Given the description of an element on the screen output the (x, y) to click on. 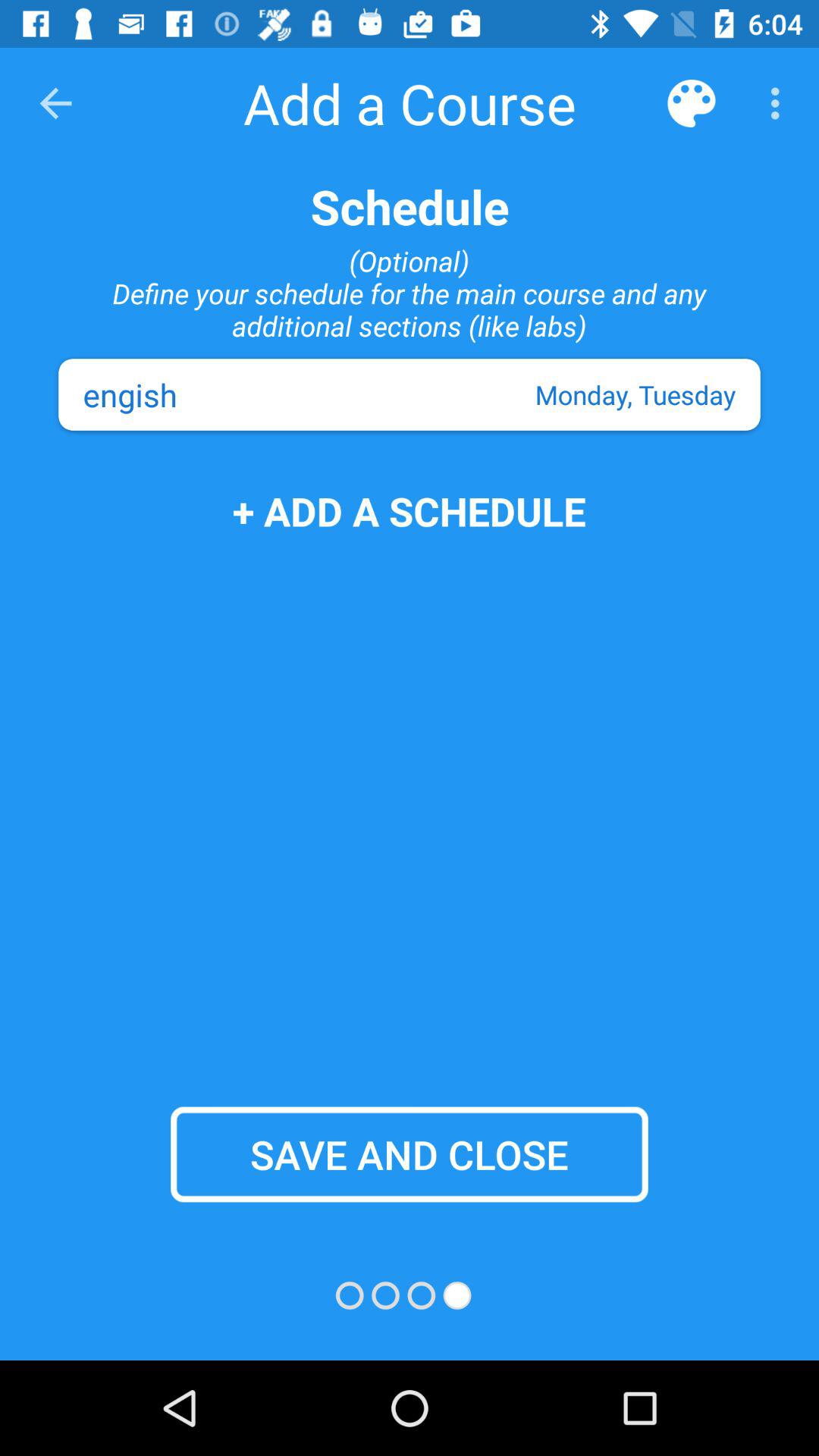
press the item above schedule item (691, 103)
